Given the description of an element on the screen output the (x, y) to click on. 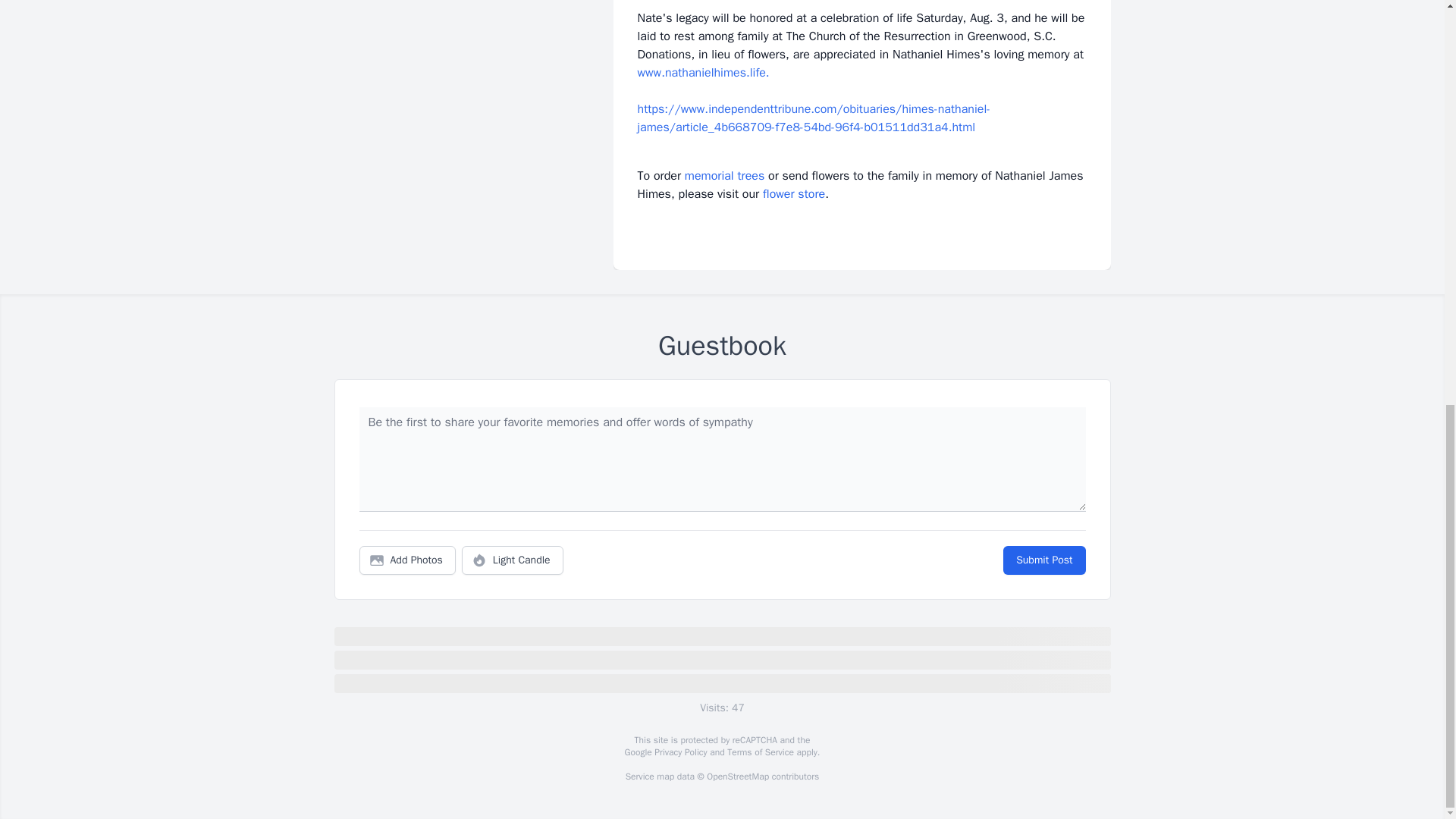
Add Photos (407, 560)
OpenStreetMap (737, 776)
Privacy Policy (679, 752)
Light Candle (512, 560)
www.nathanielhimes.life. (702, 72)
flower store (793, 193)
Submit Post (1043, 560)
memorial trees (724, 175)
Terms of Service (759, 752)
